Given the description of an element on the screen output the (x, y) to click on. 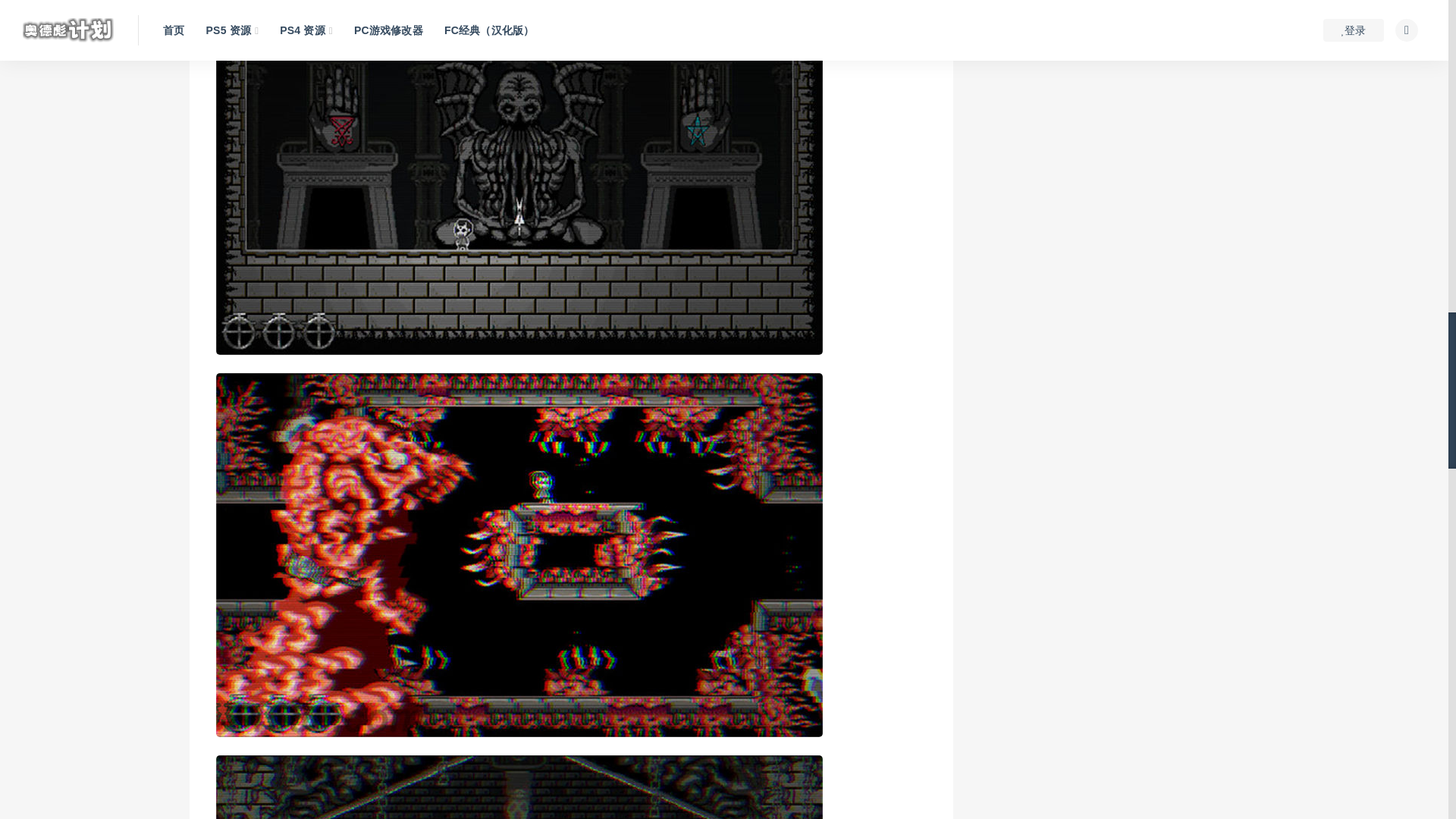
1702485203-4158775c7704b8d.jpg (518, 787)
